Given the description of an element on the screen output the (x, y) to click on. 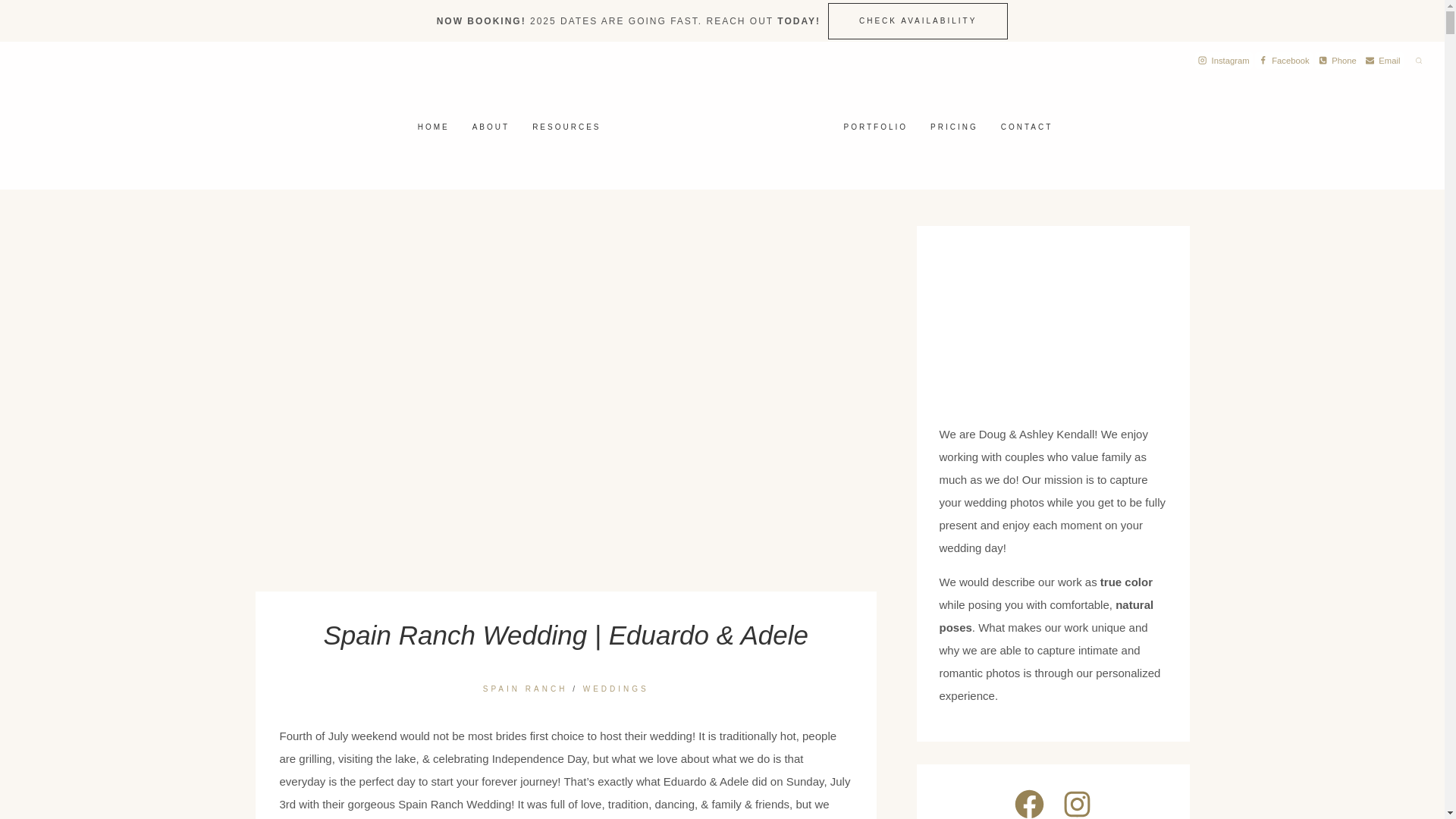
PORTFOLIO (876, 126)
Phone (1336, 60)
RESOURCES (566, 126)
Email (1382, 60)
Instagram (1223, 60)
CONTACT (1027, 126)
CHECK AVAILABILITY (917, 21)
WEDDINGS (616, 688)
ABOUT (491, 126)
Facebook (1284, 60)
